Given the description of an element on the screen output the (x, y) to click on. 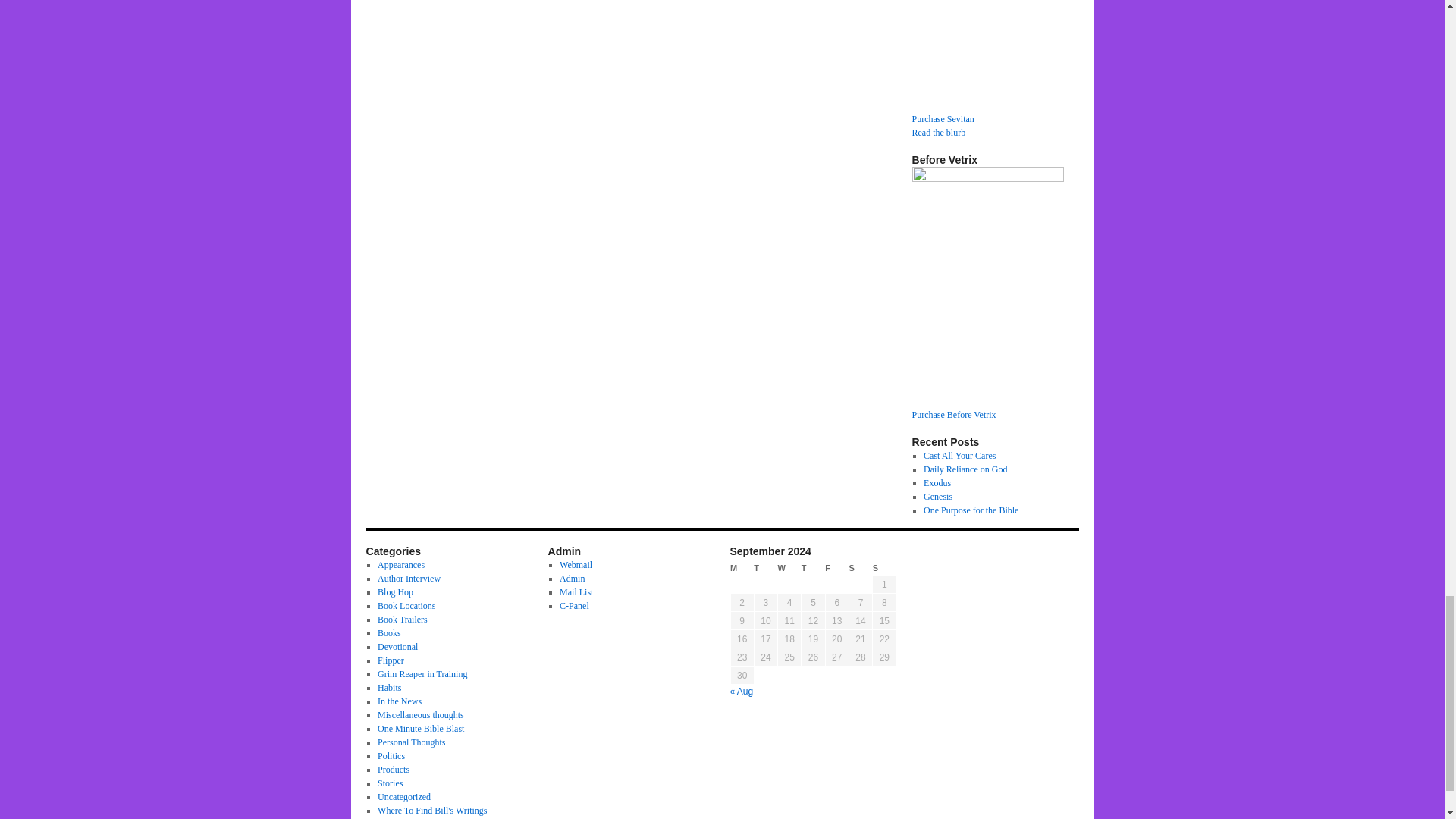
Wednesday (789, 568)
Saturday (860, 568)
Monday (742, 568)
Thursday (813, 568)
Sunday (884, 568)
Tuesday (765, 568)
Friday (836, 568)
